Given the description of an element on the screen output the (x, y) to click on. 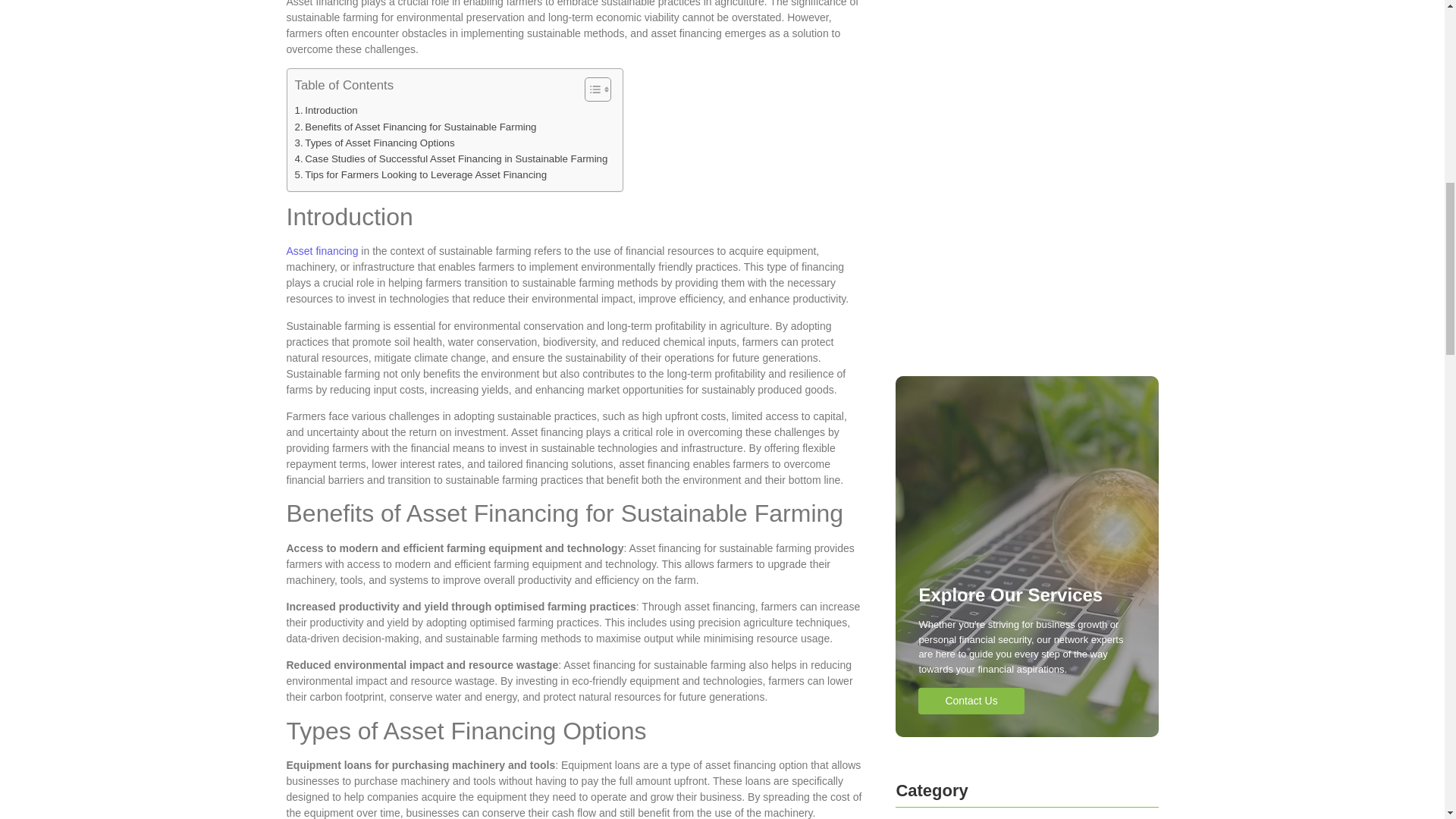
Types of Asset Financing Options (374, 142)
Asset financing (322, 250)
Benefits of Asset Financing for Sustainable Farming (414, 126)
Introduction (325, 109)
Tips for Farmers Looking to Leverage Asset Financing (420, 174)
